Given the description of an element on the screen output the (x, y) to click on. 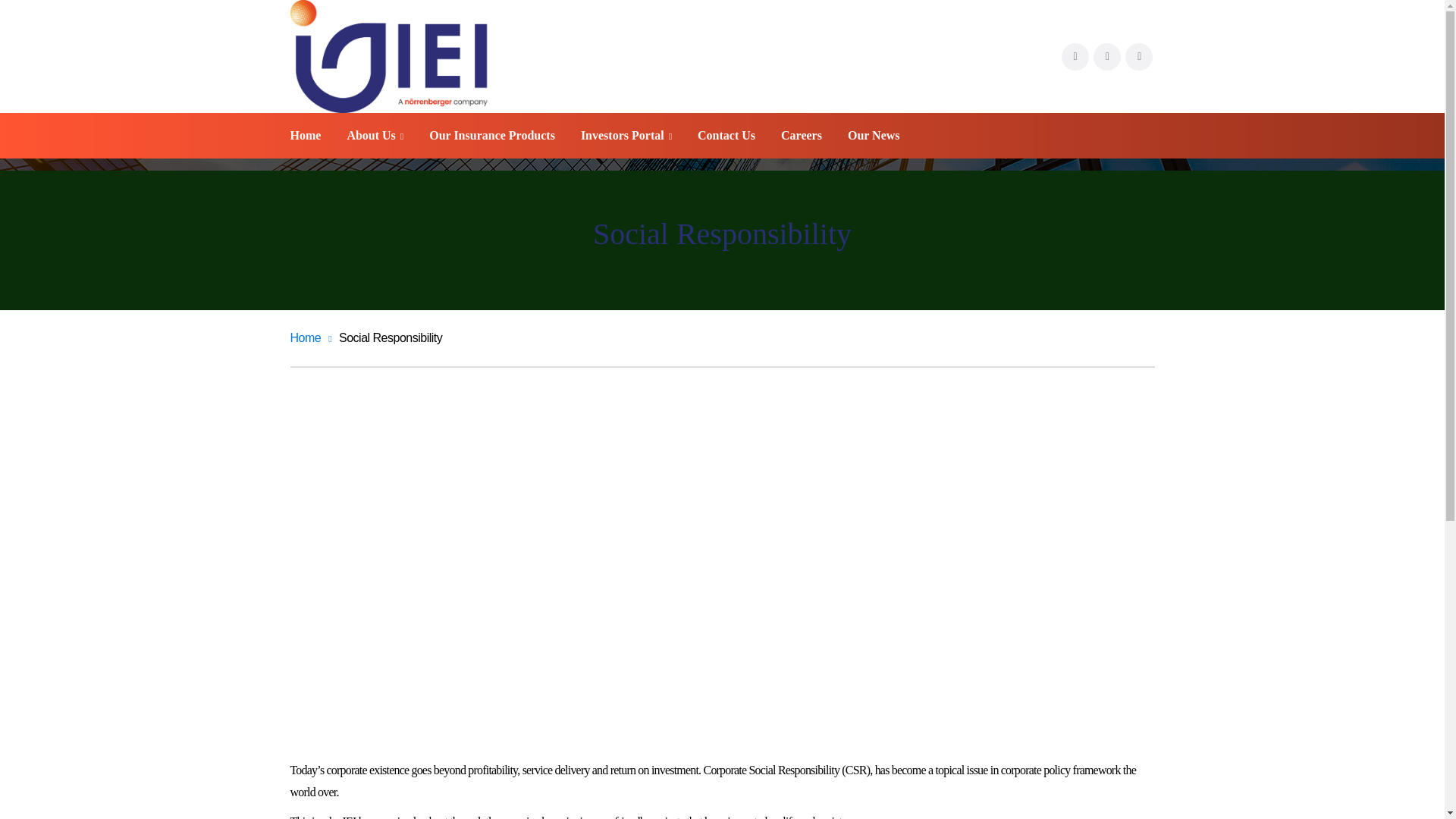
Search (174, 16)
Our Insurance Products (491, 135)
Home (304, 135)
Our News (873, 135)
About Us (374, 135)
Careers (801, 135)
Investors Portal (625, 135)
Home (310, 337)
Contact Us (726, 135)
